Given the description of an element on the screen output the (x, y) to click on. 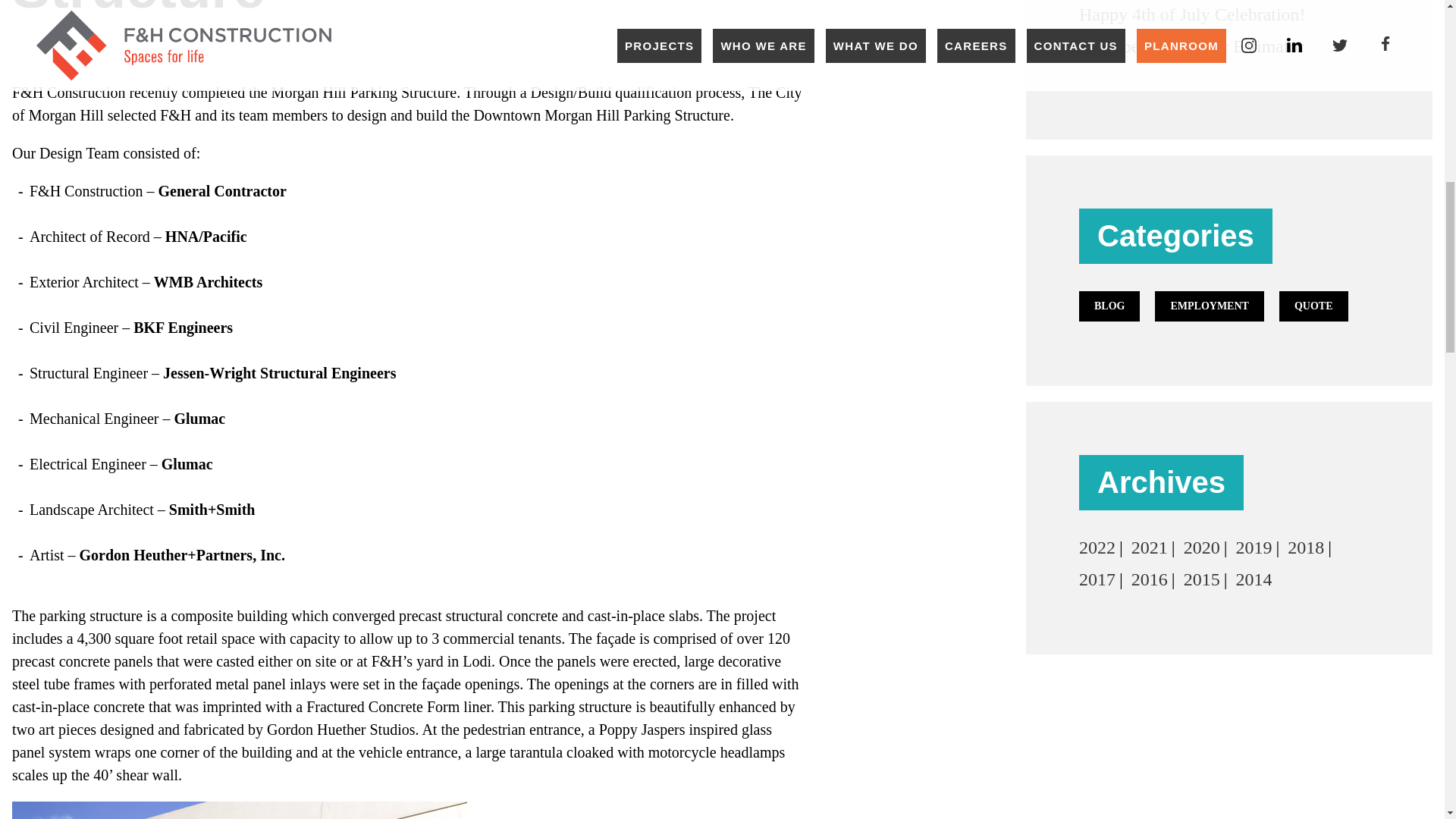
2019 (1252, 547)
EMPLOYMENT (1208, 306)
Job Opening: Senior Estimator (1191, 46)
2016 (1149, 578)
2014 (1252, 578)
2017 (1096, 578)
2020 (1201, 547)
2015 (1201, 578)
2021 (1149, 547)
2022 (1096, 547)
2018 (1305, 547)
Happy 4th of July Celebration! (1192, 14)
BLOG (1109, 306)
QUOTE (1313, 306)
